Given the description of an element on the screen output the (x, y) to click on. 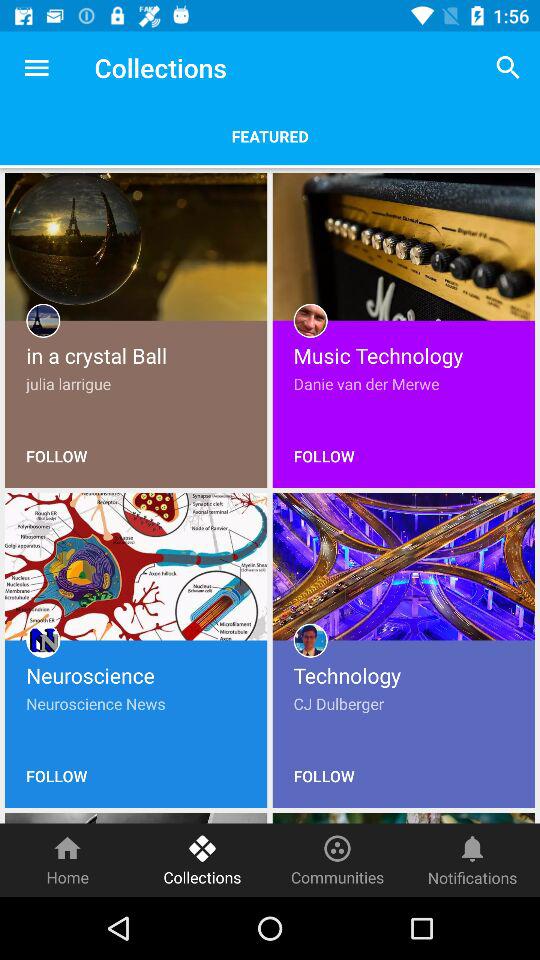
turn on the item above the featured (36, 67)
